Given the description of an element on the screen output the (x, y) to click on. 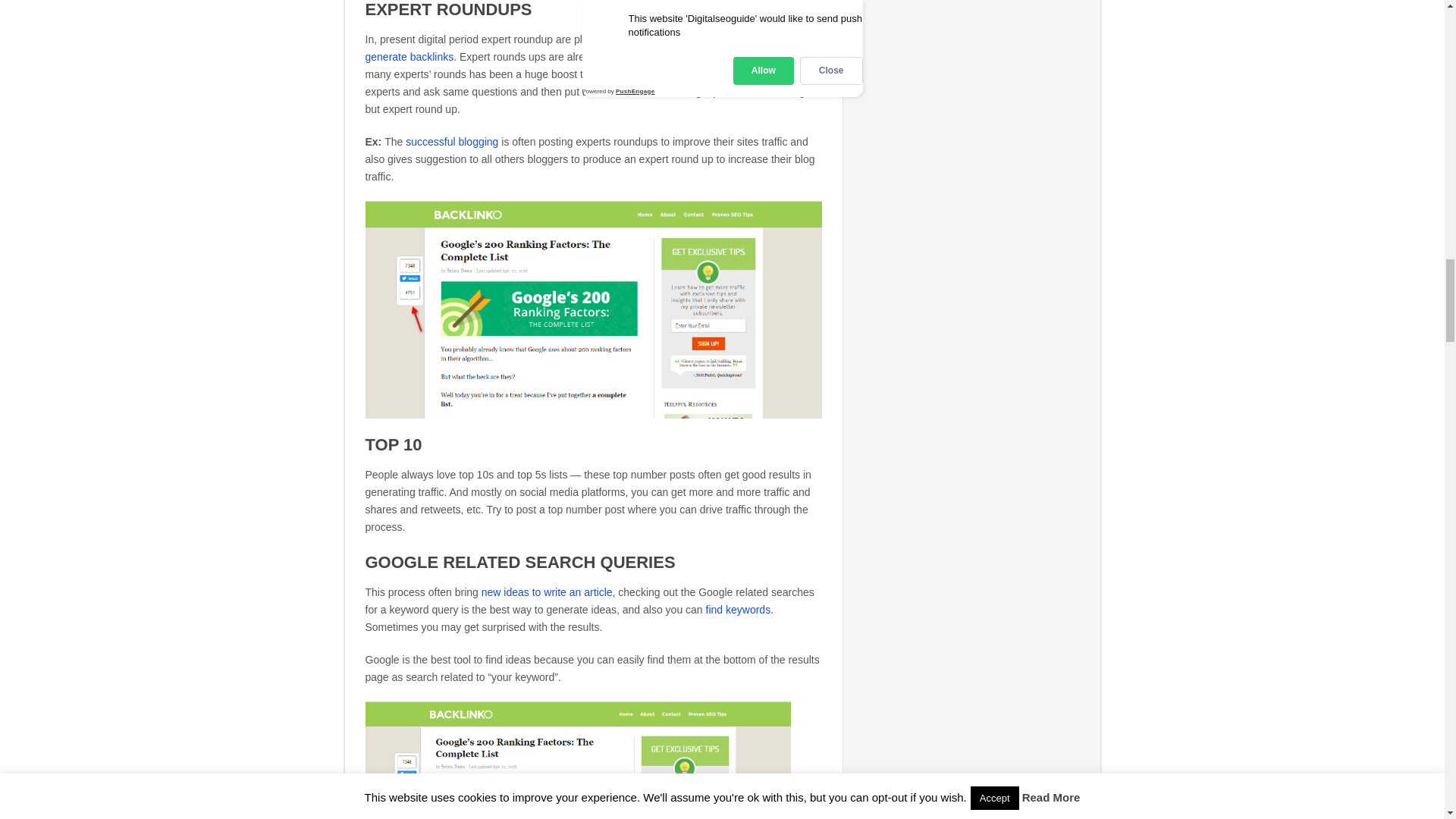
new ideas to write an article, (548, 592)
generate backlinks (409, 56)
successful blogging (451, 141)
find keywords (738, 609)
